Given the description of an element on the screen output the (x, y) to click on. 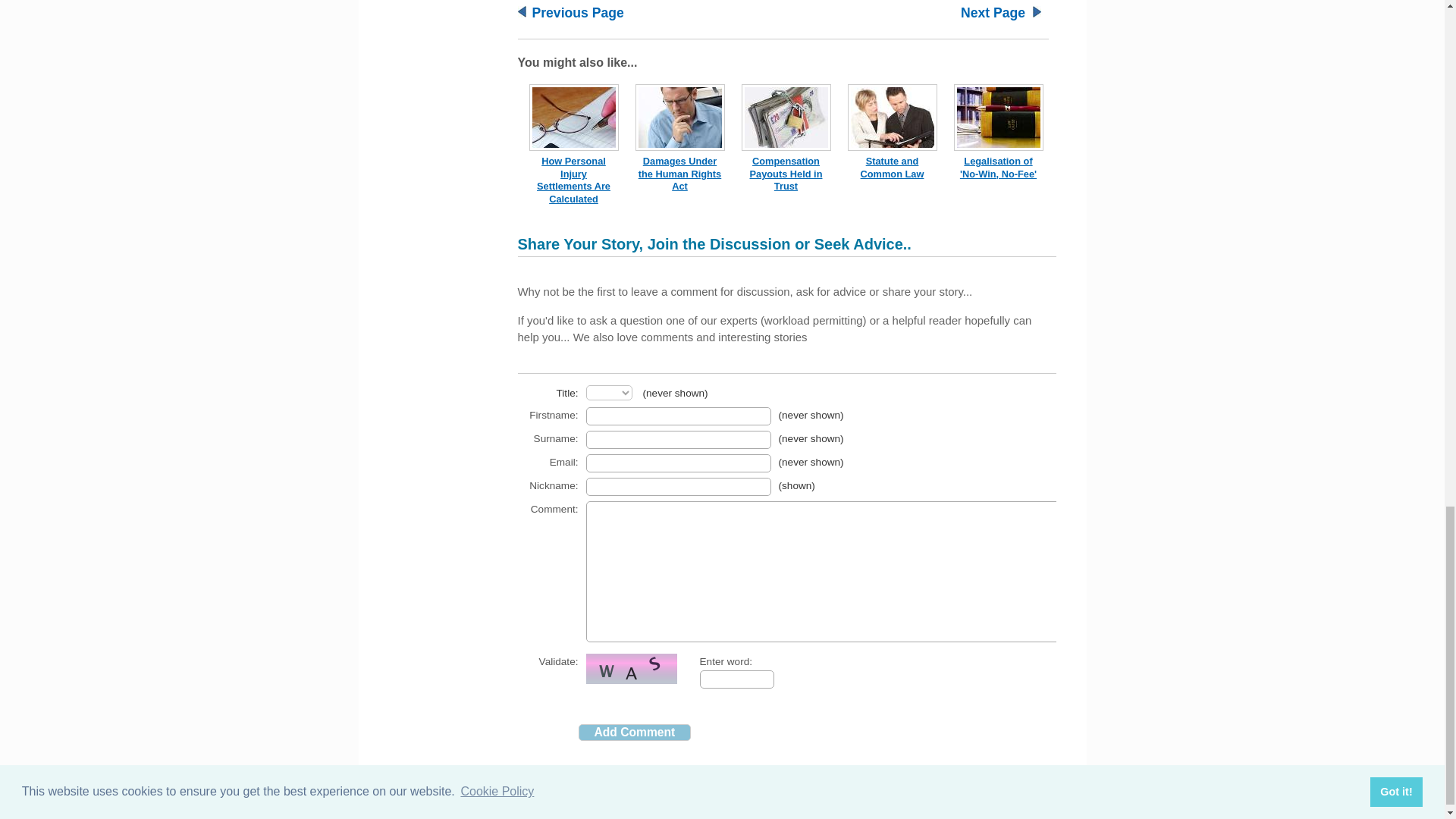
Add Comment (634, 732)
Legalisation of 'No-Win, No-Fee' (997, 167)
Previous Page (578, 12)
Compensation Payouts Held in Trust (785, 173)
Add Comment (634, 732)
Statute and Common Law (892, 167)
Next Page (992, 12)
Damages Under the Human Rights Act (680, 173)
How Personal Injury Settlements Are Calculated (573, 179)
